Given the description of an element on the screen output the (x, y) to click on. 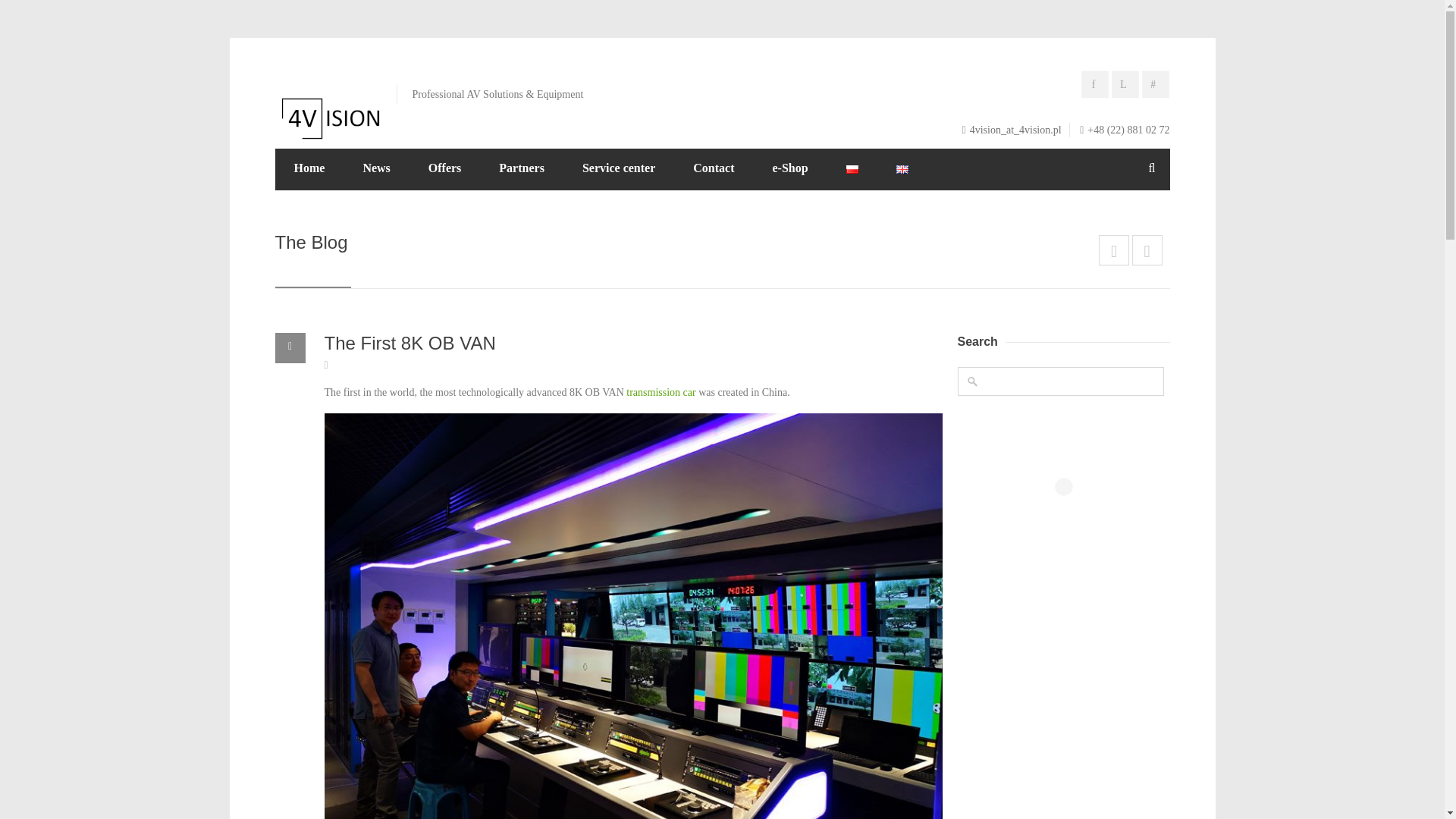
News (376, 168)
The First 8K OB VAN (410, 342)
e-Shop (789, 168)
Partners (521, 168)
Linkedin (1127, 87)
Facebook (1097, 87)
transmission car (660, 392)
Polski (852, 169)
Home (309, 168)
Contact (713, 168)
Offers (444, 168)
Service center (618, 168)
English (902, 169)
Permalink to The First 8K OB VAN (410, 342)
